Given the description of an element on the screen output the (x, y) to click on. 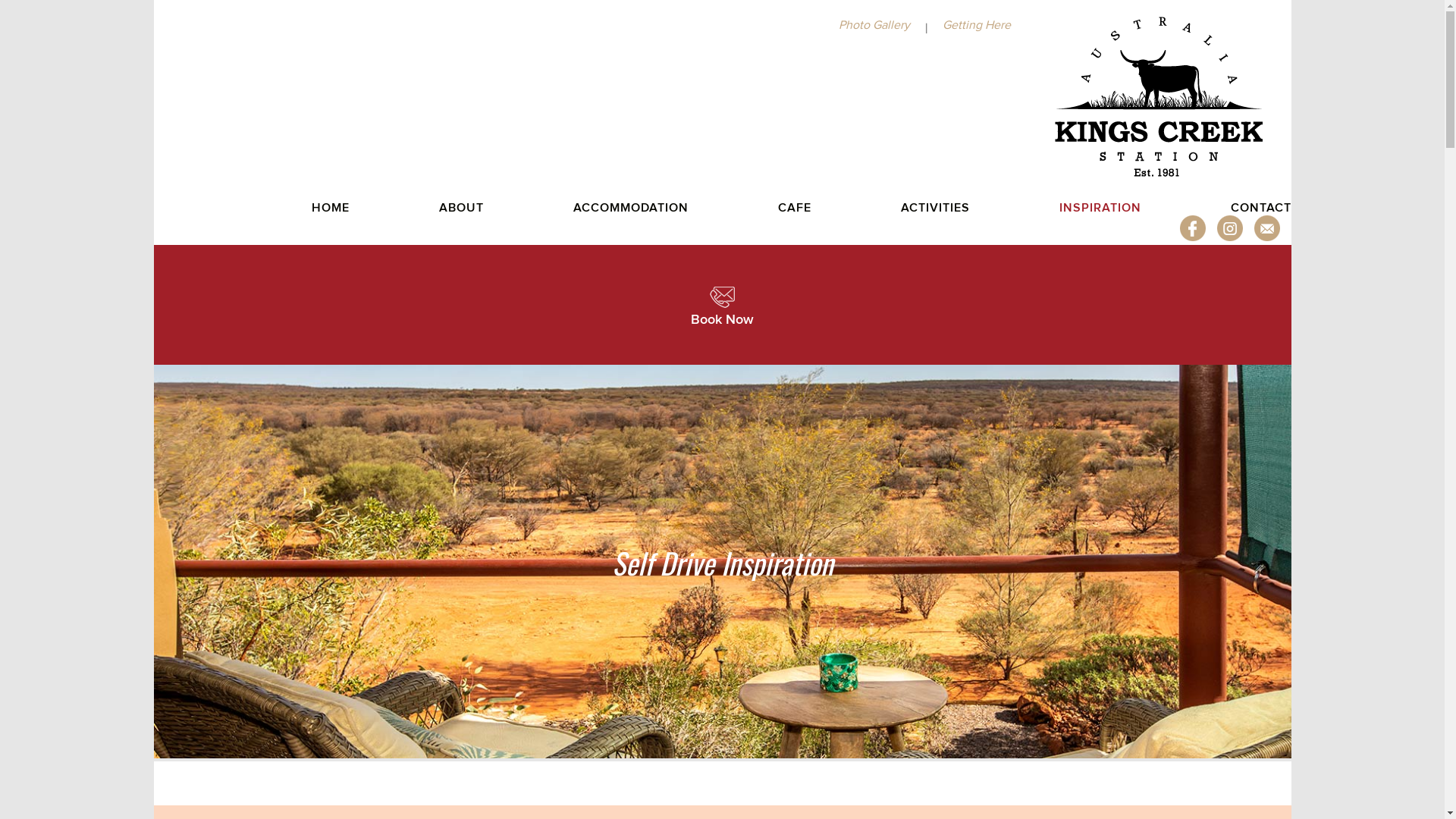
CAFE Element type: text (794, 207)
Book Now Element type: text (721, 305)
Photo Gallery Element type: text (874, 23)
ACCOMMODATION Element type: text (630, 207)
ABOUT Element type: text (460, 207)
HOME Element type: text (329, 207)
Getting Here Element type: text (975, 23)
CONTACT Element type: text (1260, 207)
ACTIVITIES Element type: text (934, 207)
INSPIRATION Element type: text (1099, 207)
